Given the description of an element on the screen output the (x, y) to click on. 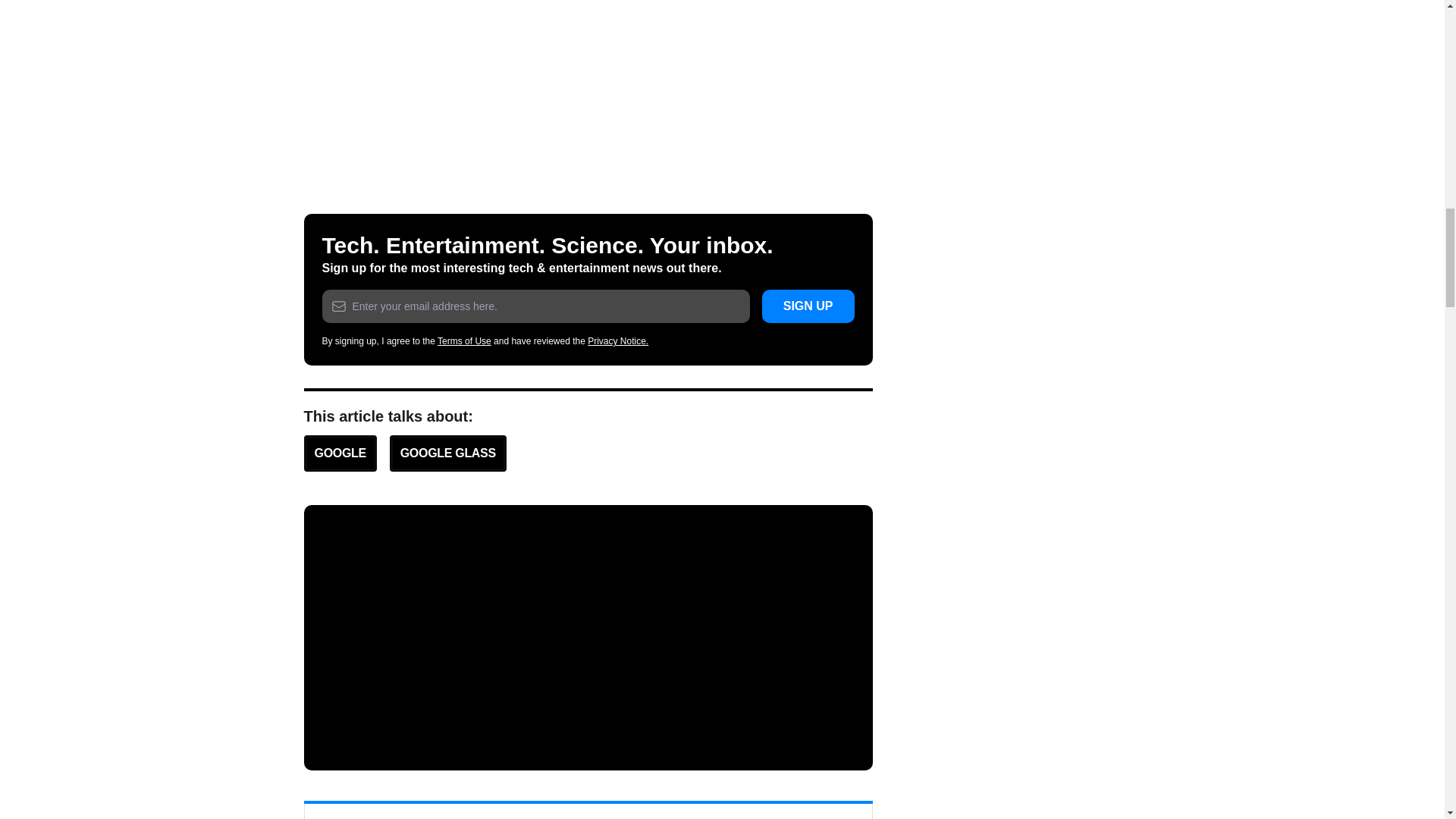
3rd party ad content (587, 637)
